Given the description of an element on the screen output the (x, y) to click on. 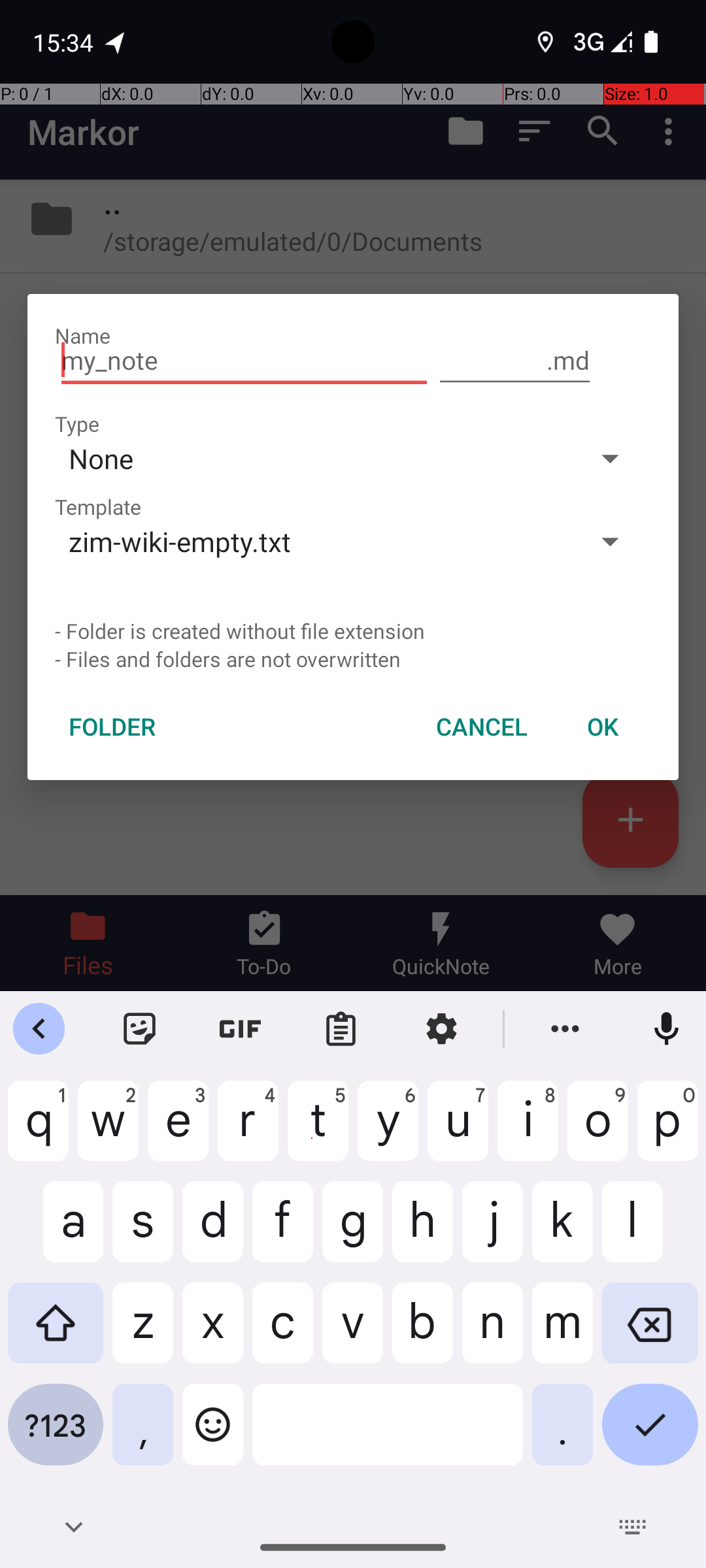
.md Element type: android.widget.EditText (514, 360)
None Element type: android.widget.TextView (311, 457)
zim-wiki-empty.txt Element type: android.widget.TextView (311, 540)
